Given the description of an element on the screen output the (x, y) to click on. 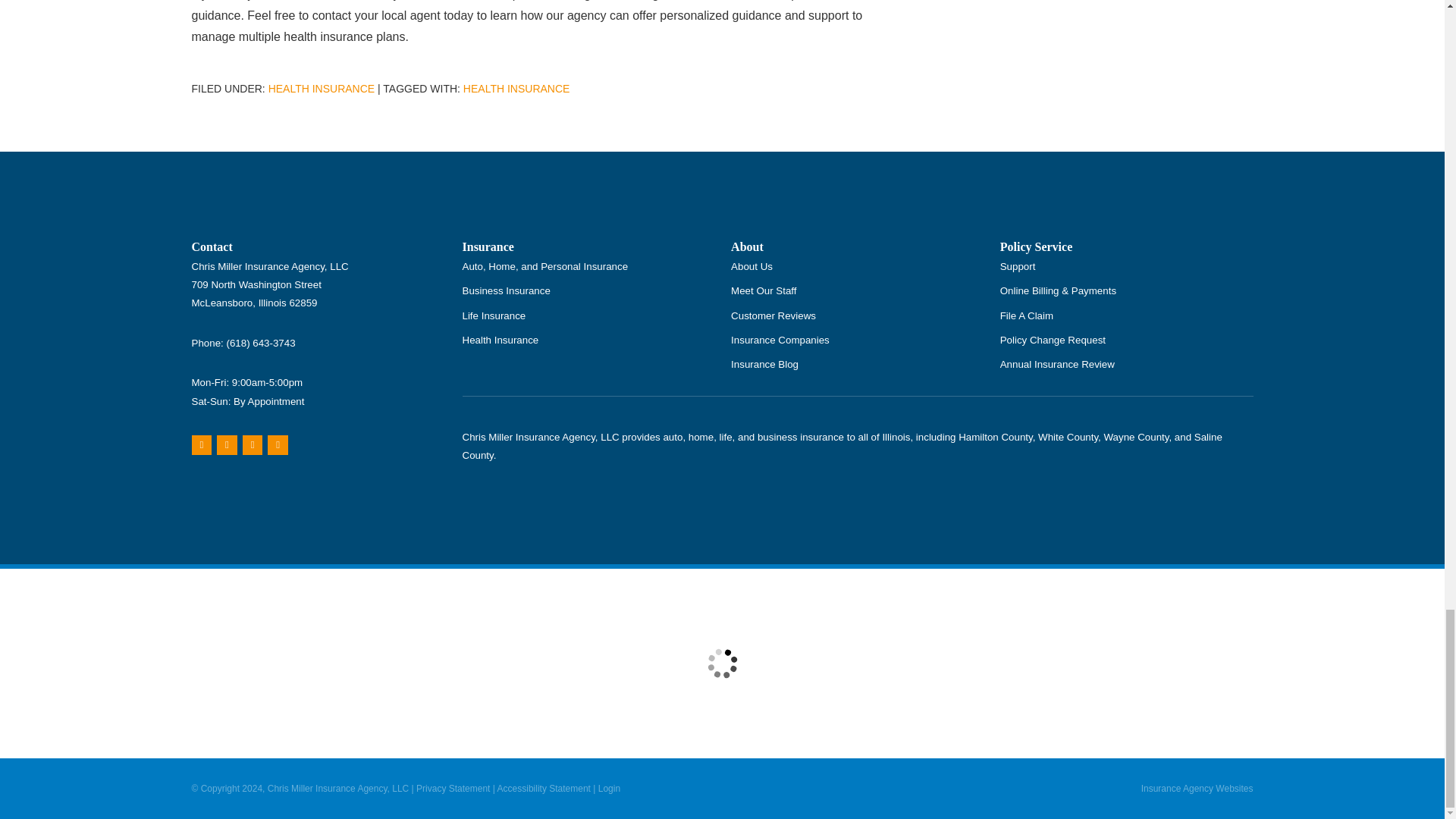
Health Insurance (516, 88)
LinkedIn (277, 444)
Facebook (253, 444)
Yelp (226, 444)
Google Maps (200, 444)
Health Insurance (321, 88)
